Given the description of an element on the screen output the (x, y) to click on. 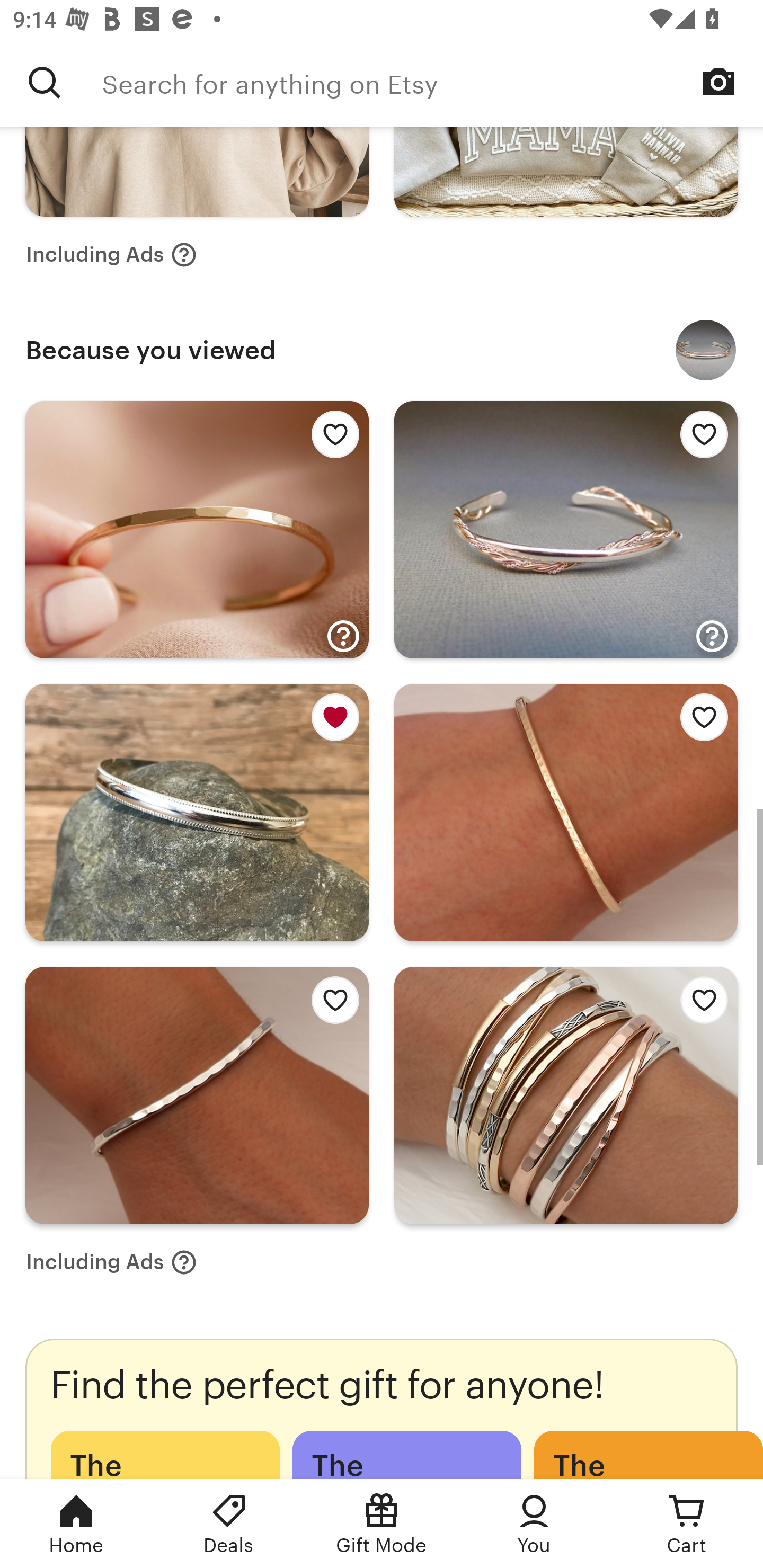
Search for anything on Etsy (44, 82)
Search by image (718, 81)
Search for anything on Etsy (432, 82)
Including Ads (111, 254)
Including Ads (111, 1261)
Find the perfect gift for anyone! (381, 1408)
Deals (228, 1523)
Gift Mode (381, 1523)
You (533, 1523)
Cart (686, 1523)
